Given the description of an element on the screen output the (x, y) to click on. 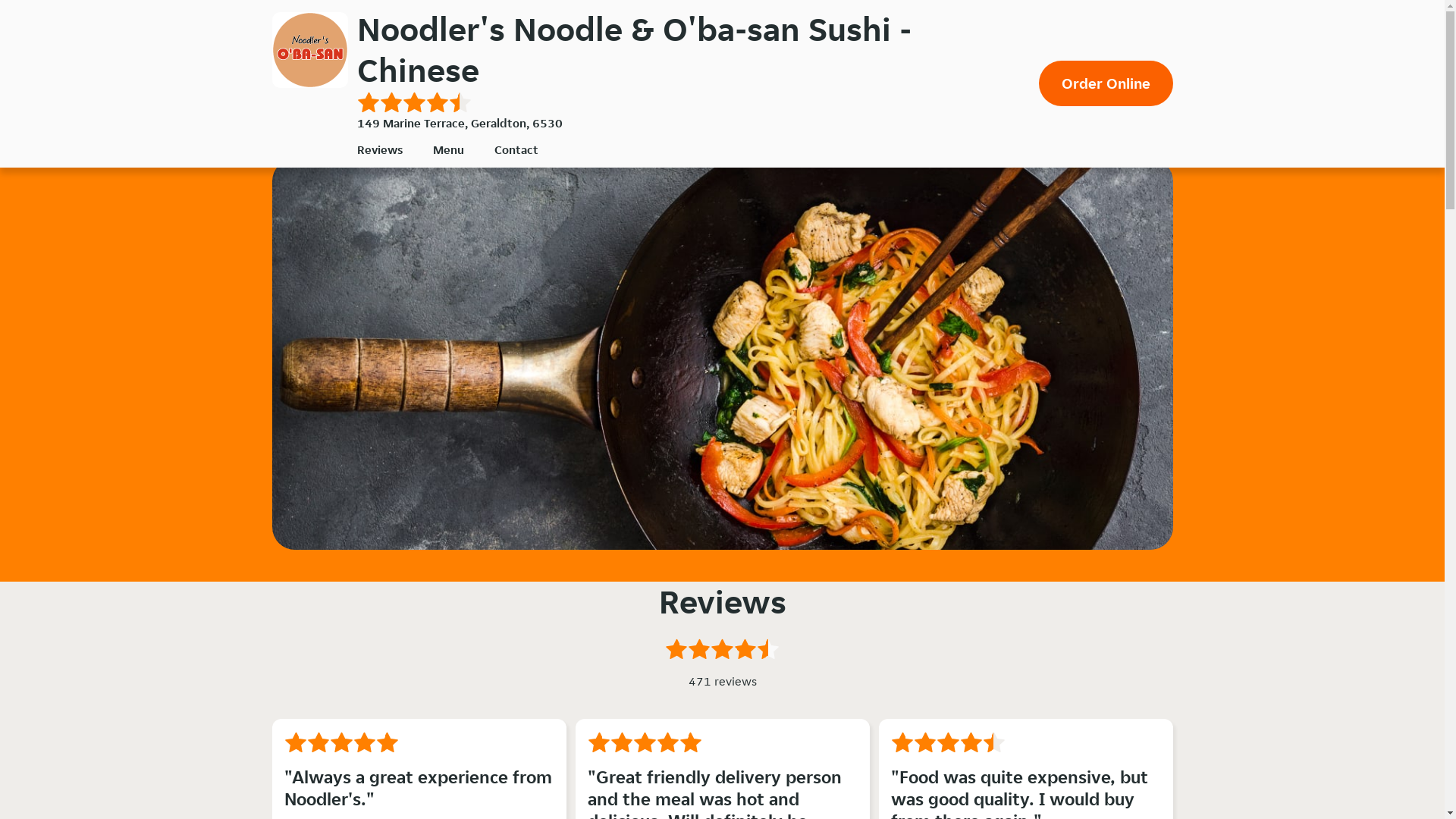
Reviews Element type: text (378, 149)
Menu Element type: text (447, 149)
Order Online Element type: text (1105, 83)
Contact Element type: text (516, 149)
Noodler's Noodle & O'ba-san Sushi Element type: hover (309, 49)
